Given the description of an element on the screen output the (x, y) to click on. 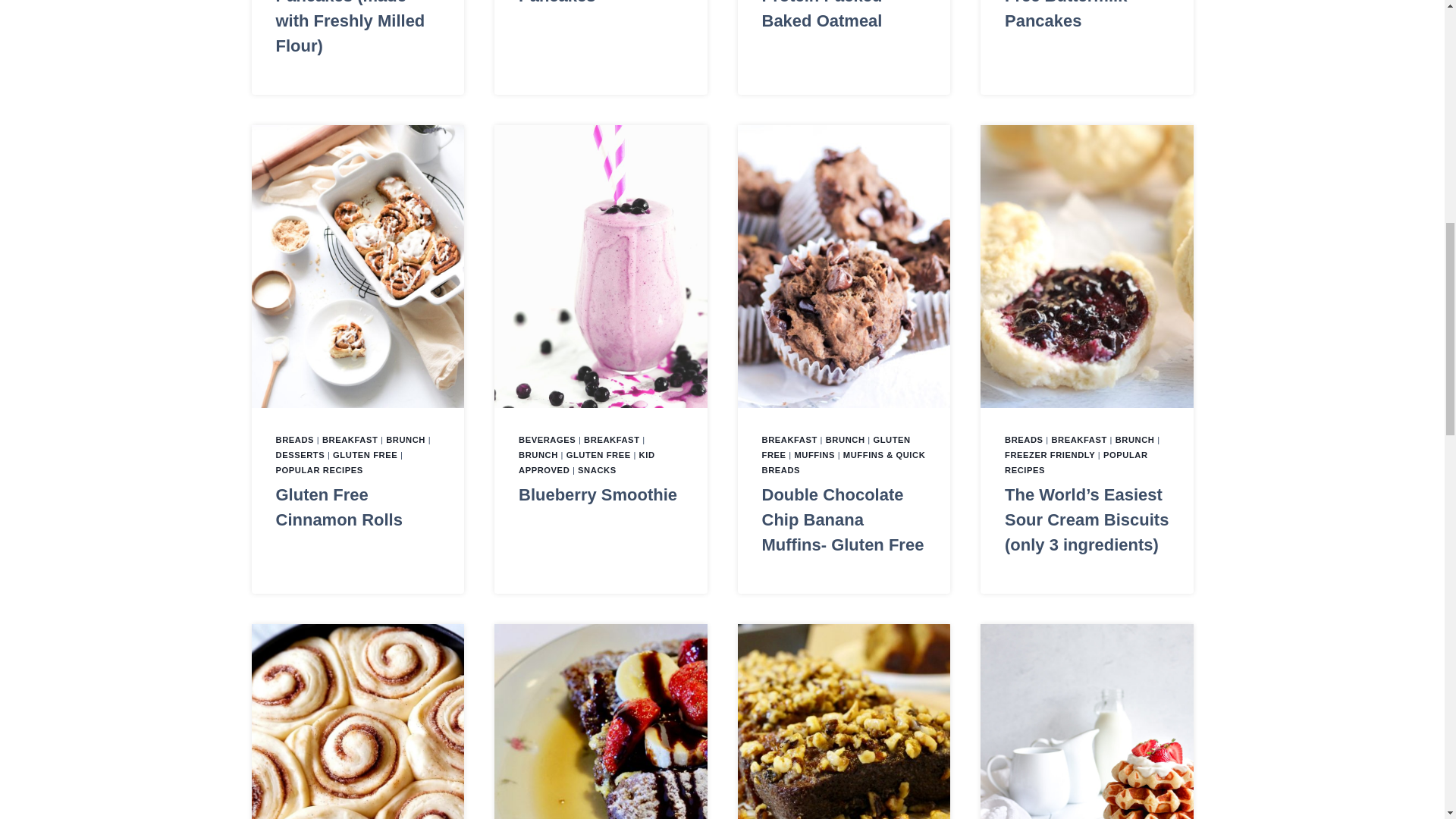
Easy and Delicious Protein Packed Baked Oatmeal (837, 15)
Sourdough Discard Pancakes (595, 2)
Amazing Gluten Free Buttermilk Pancakes (1067, 15)
